Given the description of an element on the screen output the (x, y) to click on. 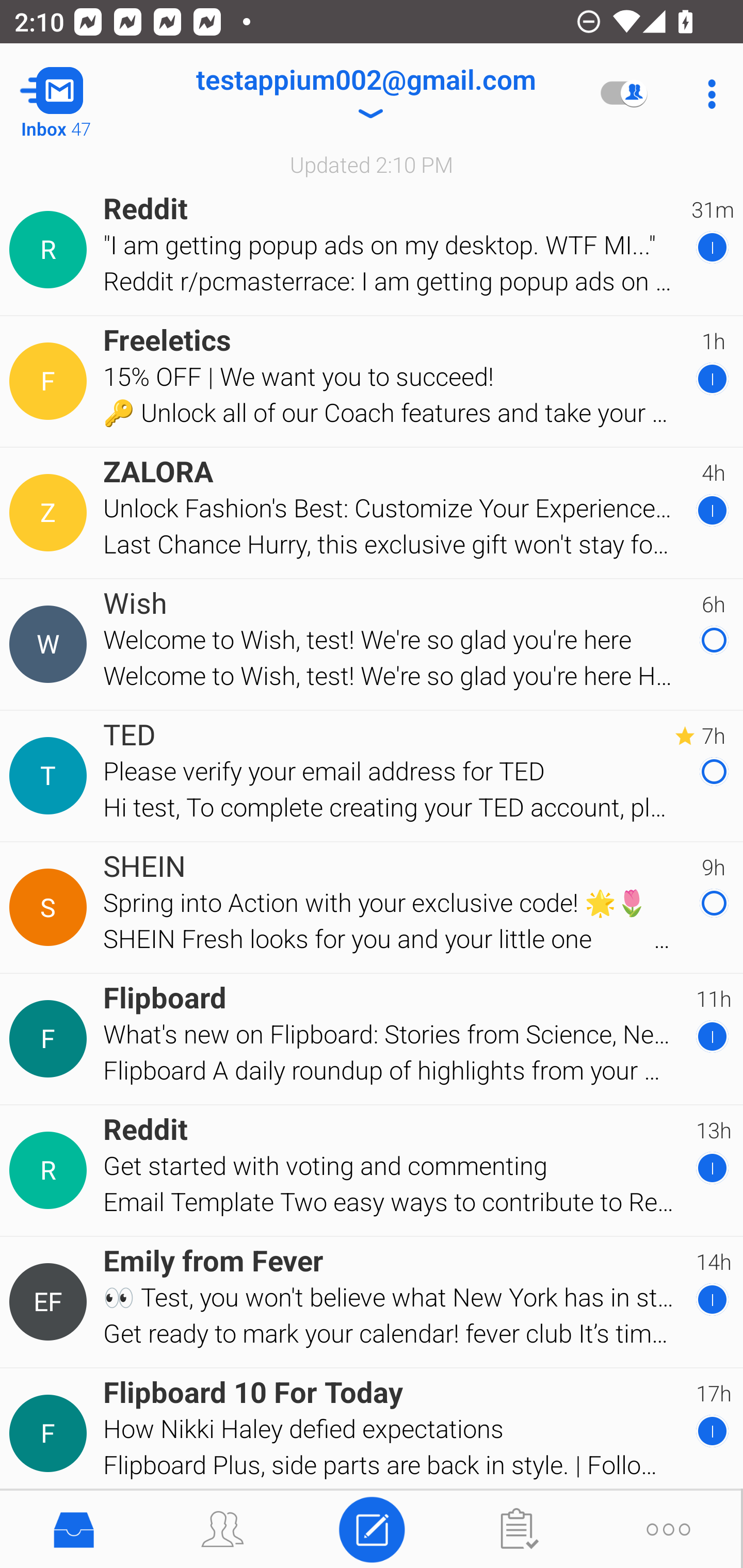
Navigate up (81, 93)
testappium002@gmail.com (365, 93)
More Options (706, 93)
Updated 2:10 PM (371, 164)
Contact Details (50, 250)
Contact Details (50, 381)
Contact Details (50, 513)
Contact Details (50, 644)
Contact Details (50, 776)
Contact Details (50, 907)
Contact Details (50, 1038)
Contact Details (50, 1170)
Contact Details (50, 1302)
Contact Details (50, 1433)
